Given the description of an element on the screen output the (x, y) to click on. 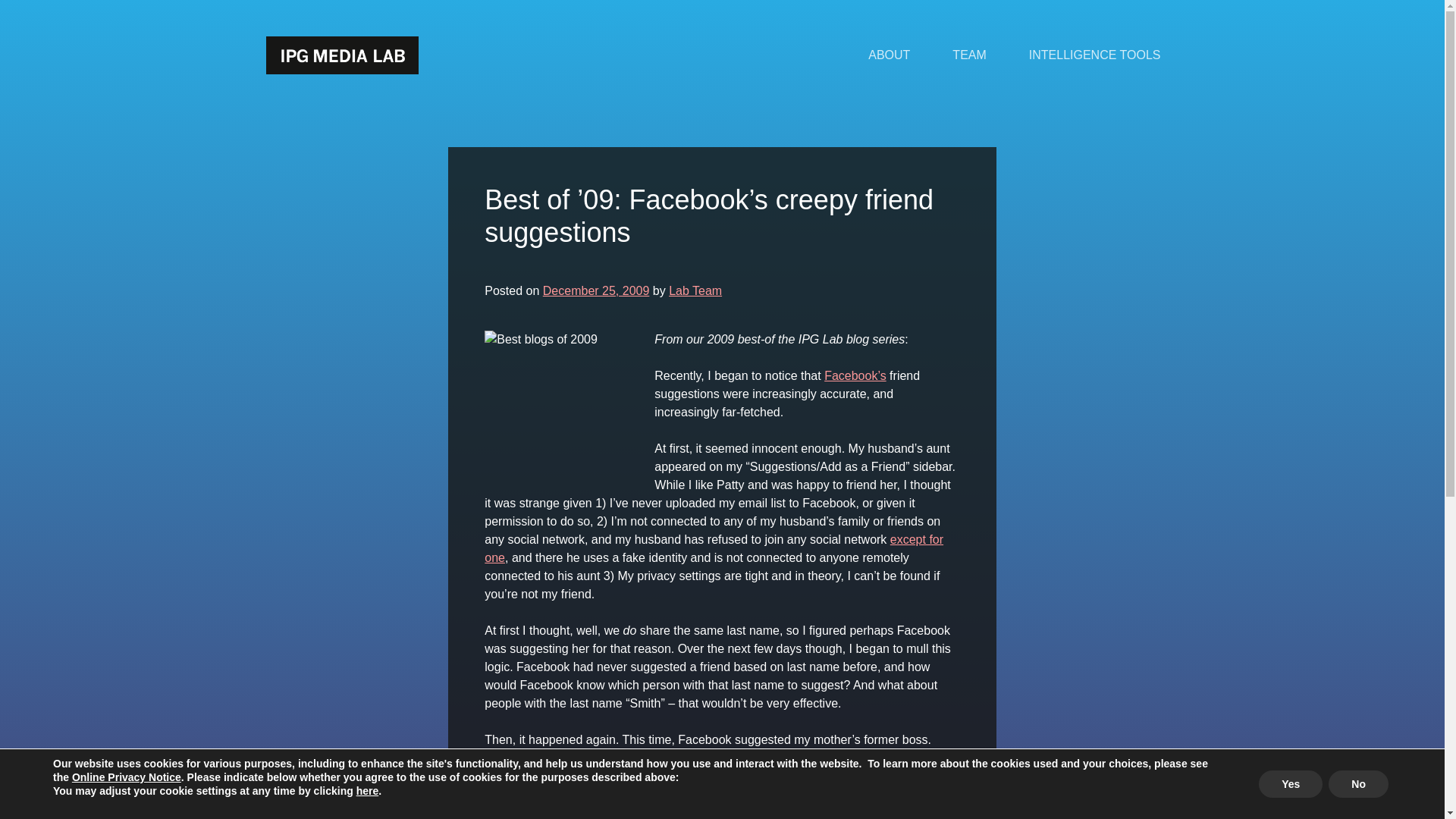
IPG Media Lab (340, 55)
IPG-Emerging-Media-Lab (873, 793)
INTELLIGENCE TOOLS (1094, 55)
except for one (713, 548)
Lab Team (695, 290)
Facebook (770, 793)
ABOUT (889, 55)
Online Privacy Notice (125, 776)
Best blogs of 2009  (560, 406)
TEAM (969, 55)
No (1358, 783)
Yes (1290, 783)
devora-rogers (700, 793)
December 25, 2009 (596, 290)
